Given the description of an element on the screen output the (x, y) to click on. 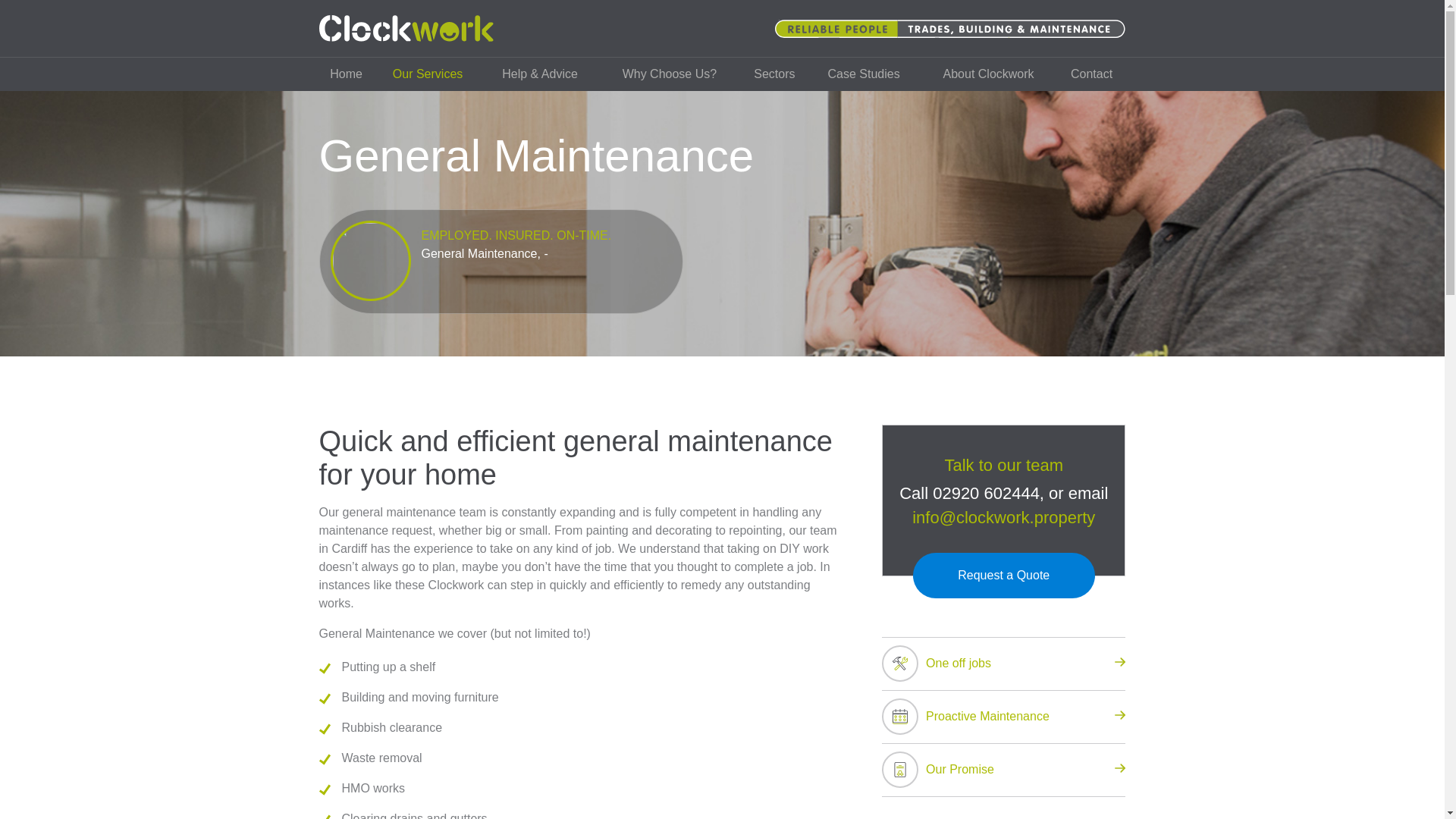
Home (345, 73)
Clockwork Building and Maintenance (405, 28)
Our Services (427, 73)
